Given the description of an element on the screen output the (x, y) to click on. 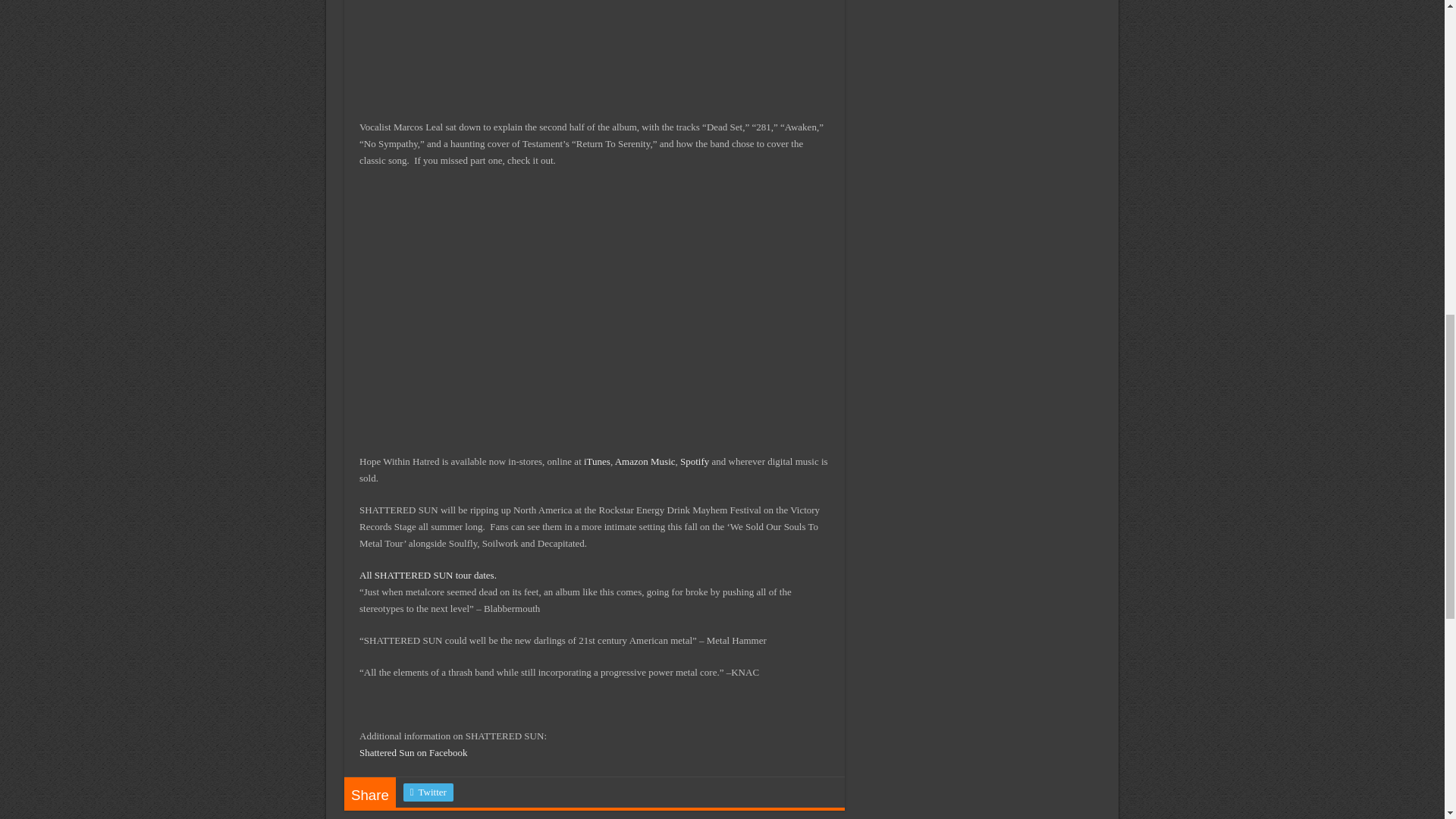
Scroll To Top (1421, 60)
